Given the description of an element on the screen output the (x, y) to click on. 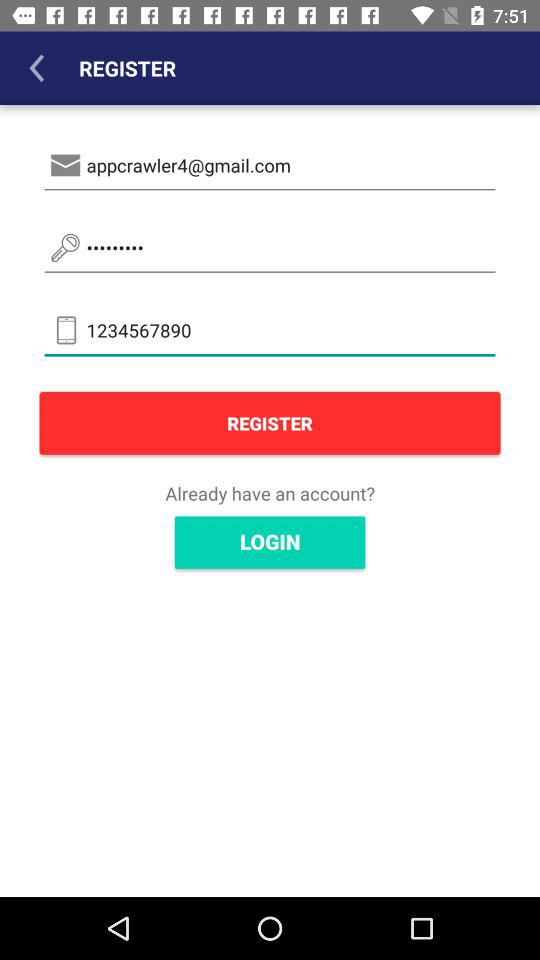
swipe to appcrawler4@gmail.com (269, 165)
